Given the description of an element on the screen output the (x, y) to click on. 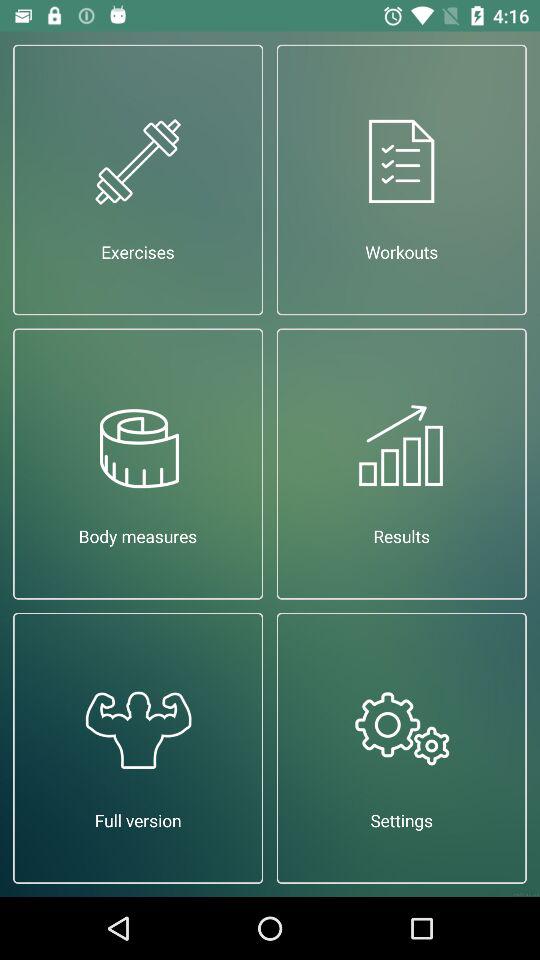
select app to the left of the workouts item (137, 179)
